Given the description of an element on the screen output the (x, y) to click on. 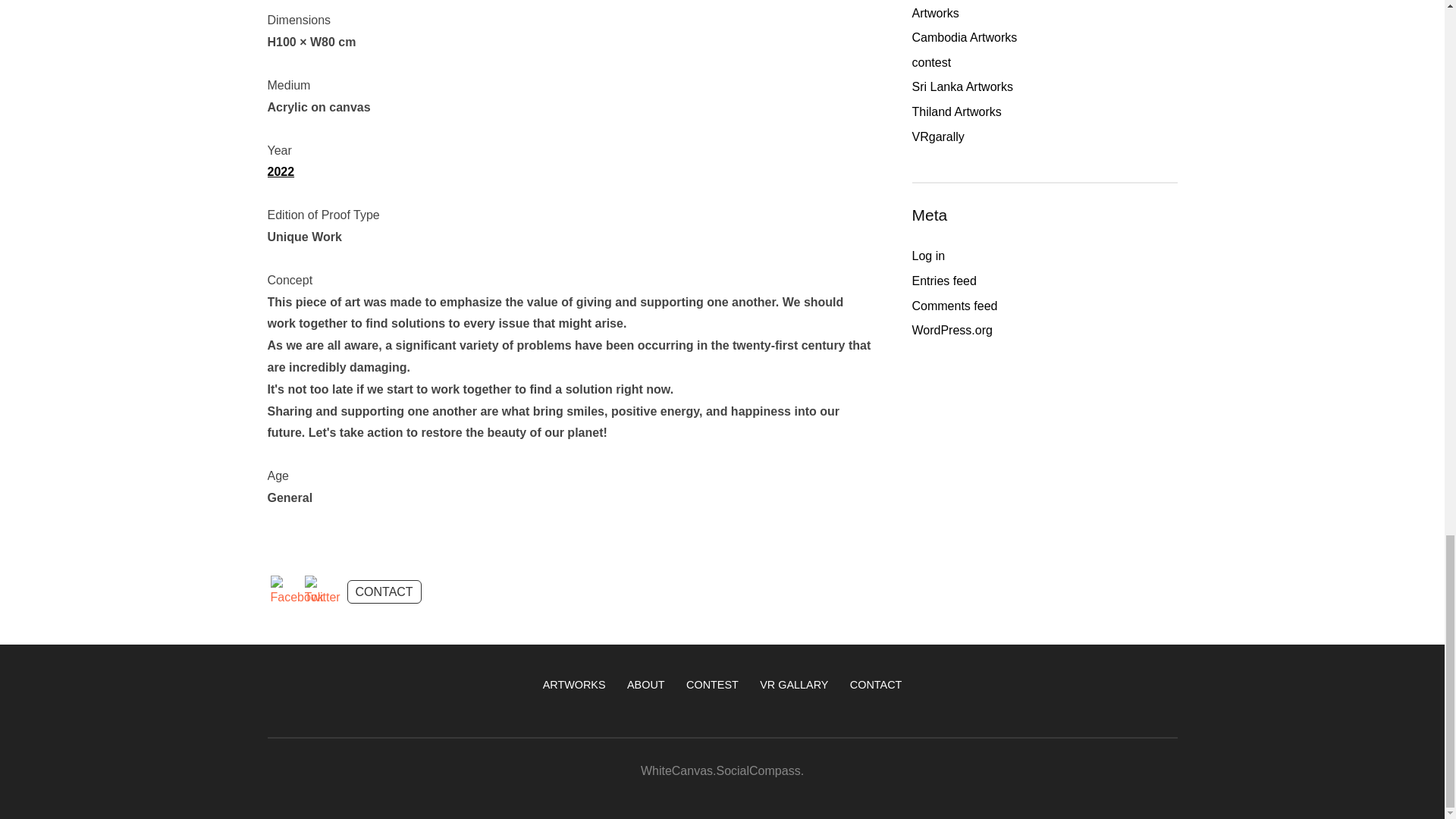
contest (930, 62)
Twitter (322, 591)
Sri Lanka Artworks (961, 86)
Facebook (296, 591)
Thiland Artworks (956, 111)
2022 (280, 171)
Entries feed (943, 280)
VRgarally (937, 136)
Log in (927, 255)
Artworks (934, 12)
